Given the description of an element on the screen output the (x, y) to click on. 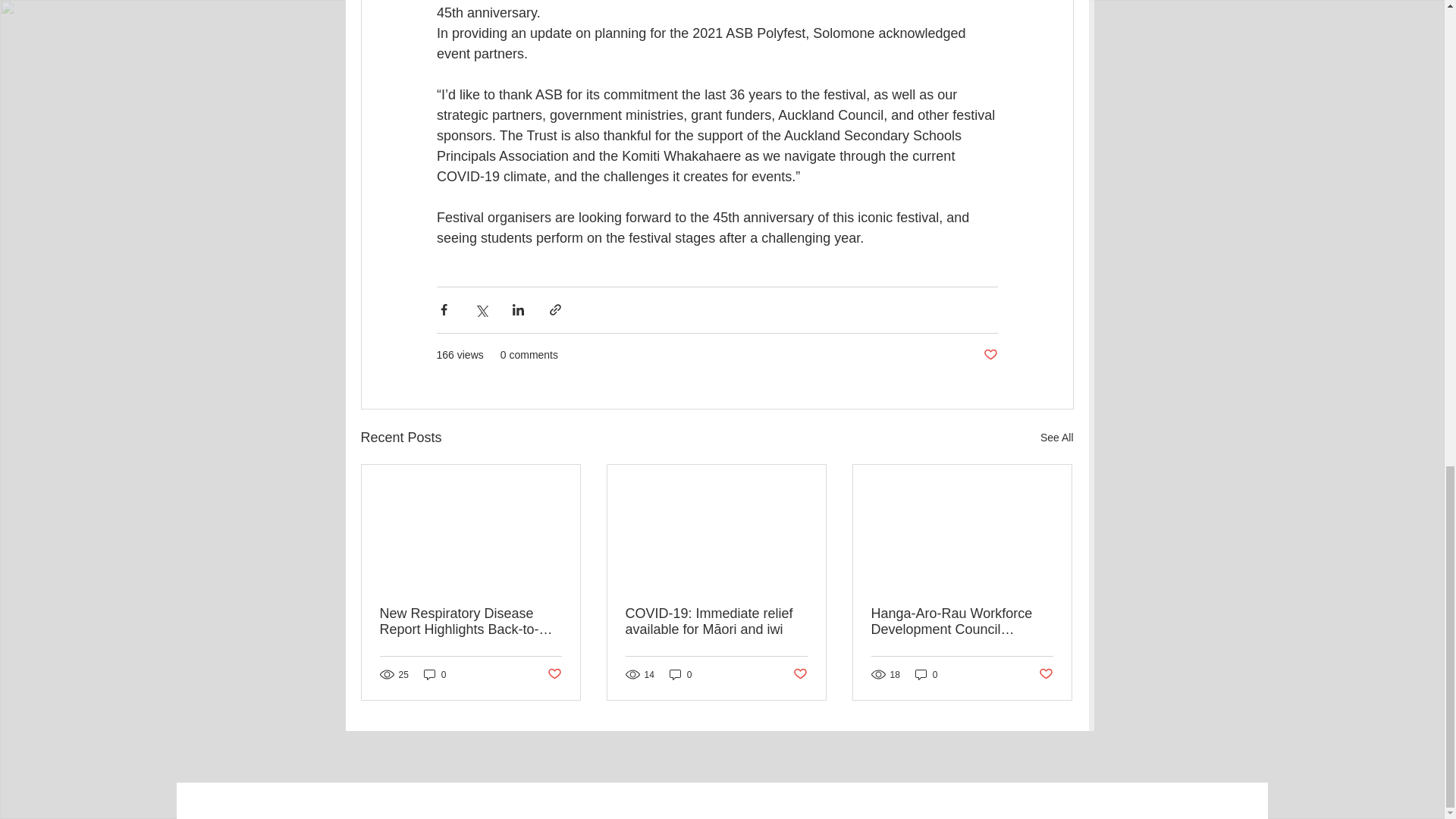
See All (1057, 437)
Hanga-Aro-Rau Workforce Development Council appoints CEO (961, 622)
Post not marked as liked (800, 674)
0 (681, 674)
Post not marked as liked (989, 355)
0 (926, 674)
Post not marked as liked (554, 674)
0 (435, 674)
Post not marked as liked (1045, 674)
